Given the description of an element on the screen output the (x, y) to click on. 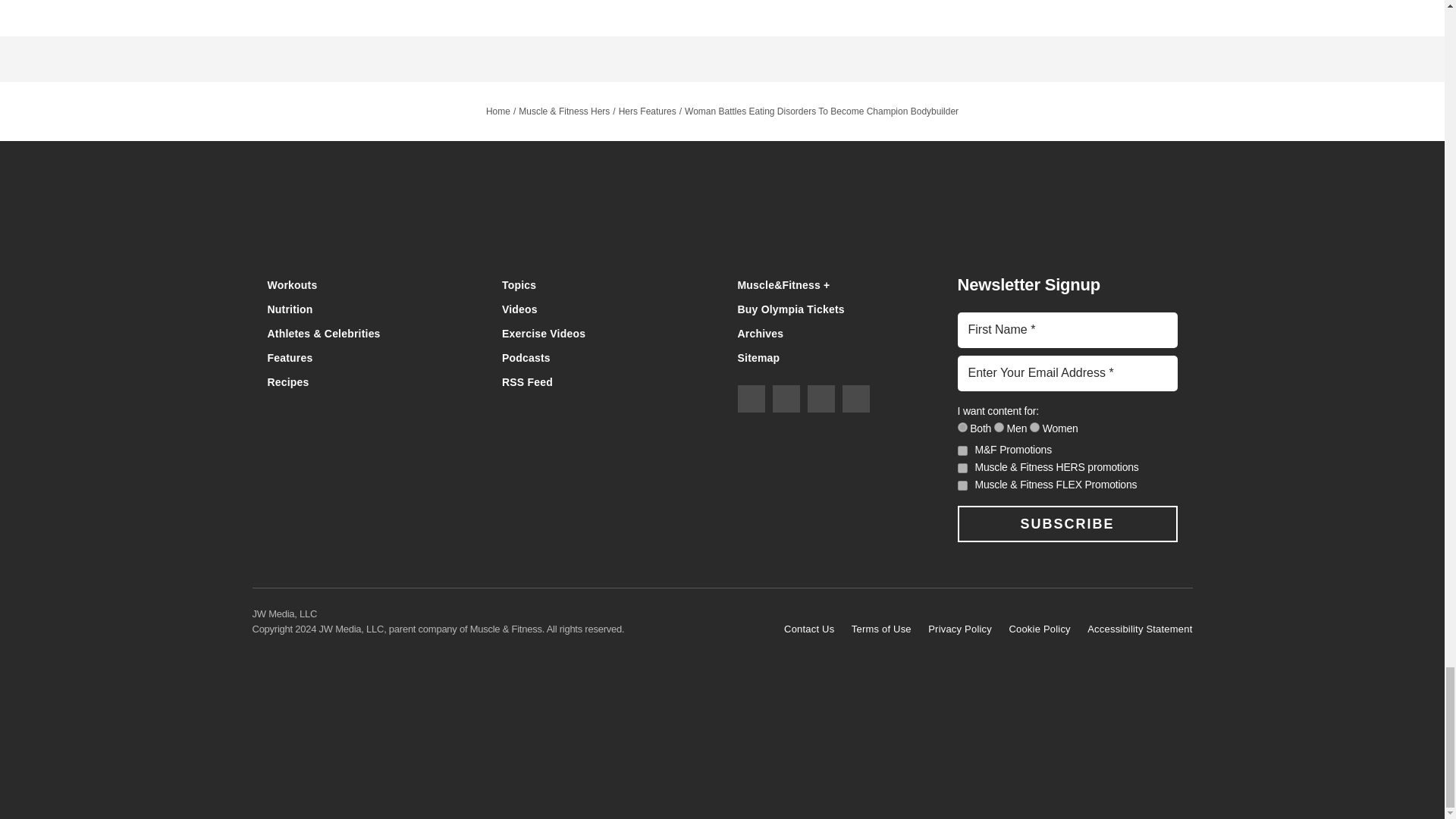
711 (961, 427)
713 (999, 427)
715 (1034, 427)
